Given the description of an element on the screen output the (x, y) to click on. 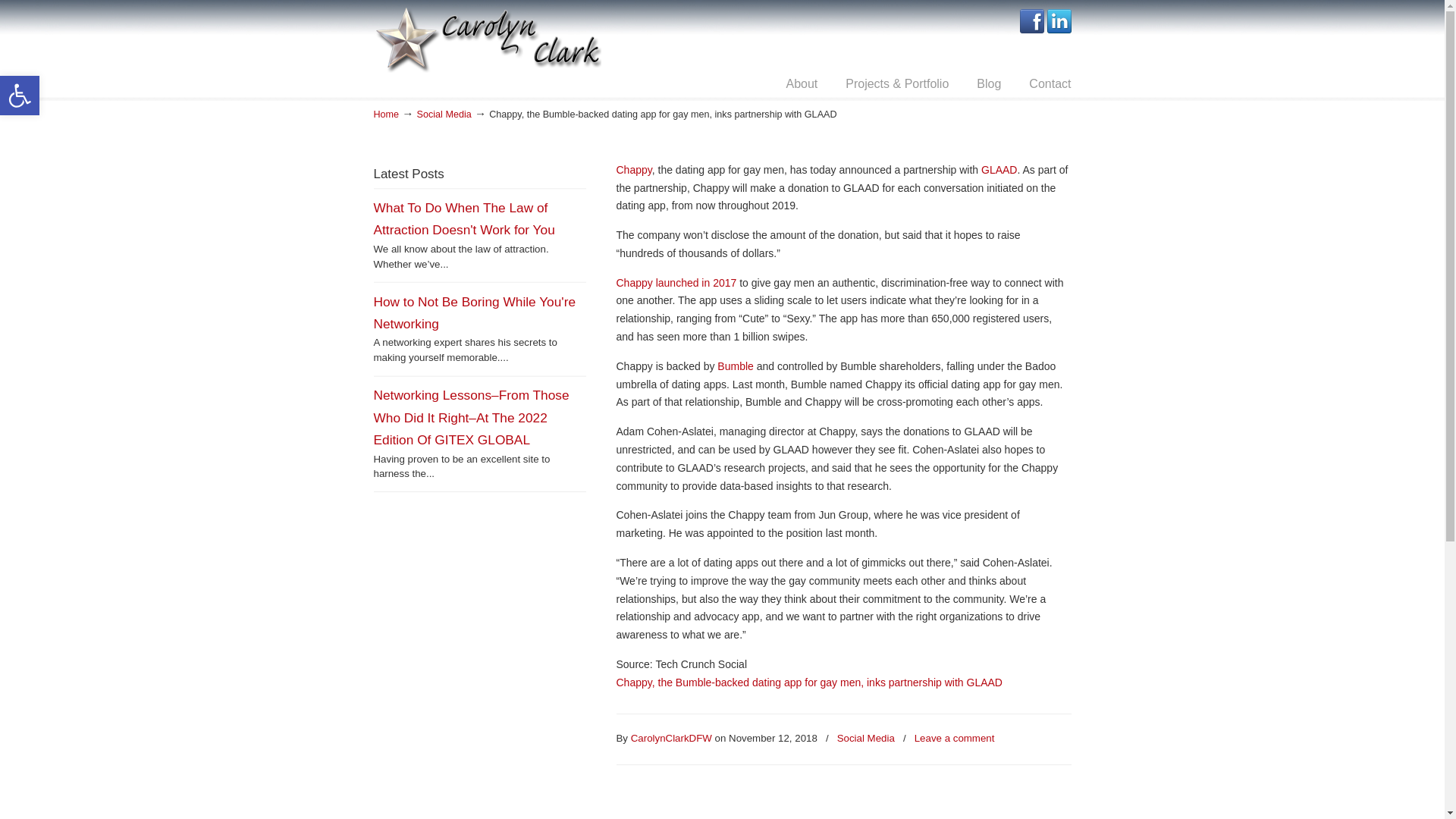
About (801, 83)
GLAAD (998, 169)
Social Media (443, 113)
Blog (988, 83)
Posts by CarolynClarkDFW (670, 738)
Contact (1049, 83)
Accessibility Tools (19, 95)
Home (385, 113)
What To Do When The Law of Attraction Doesn't Work for You (463, 218)
